Given the description of an element on the screen output the (x, y) to click on. 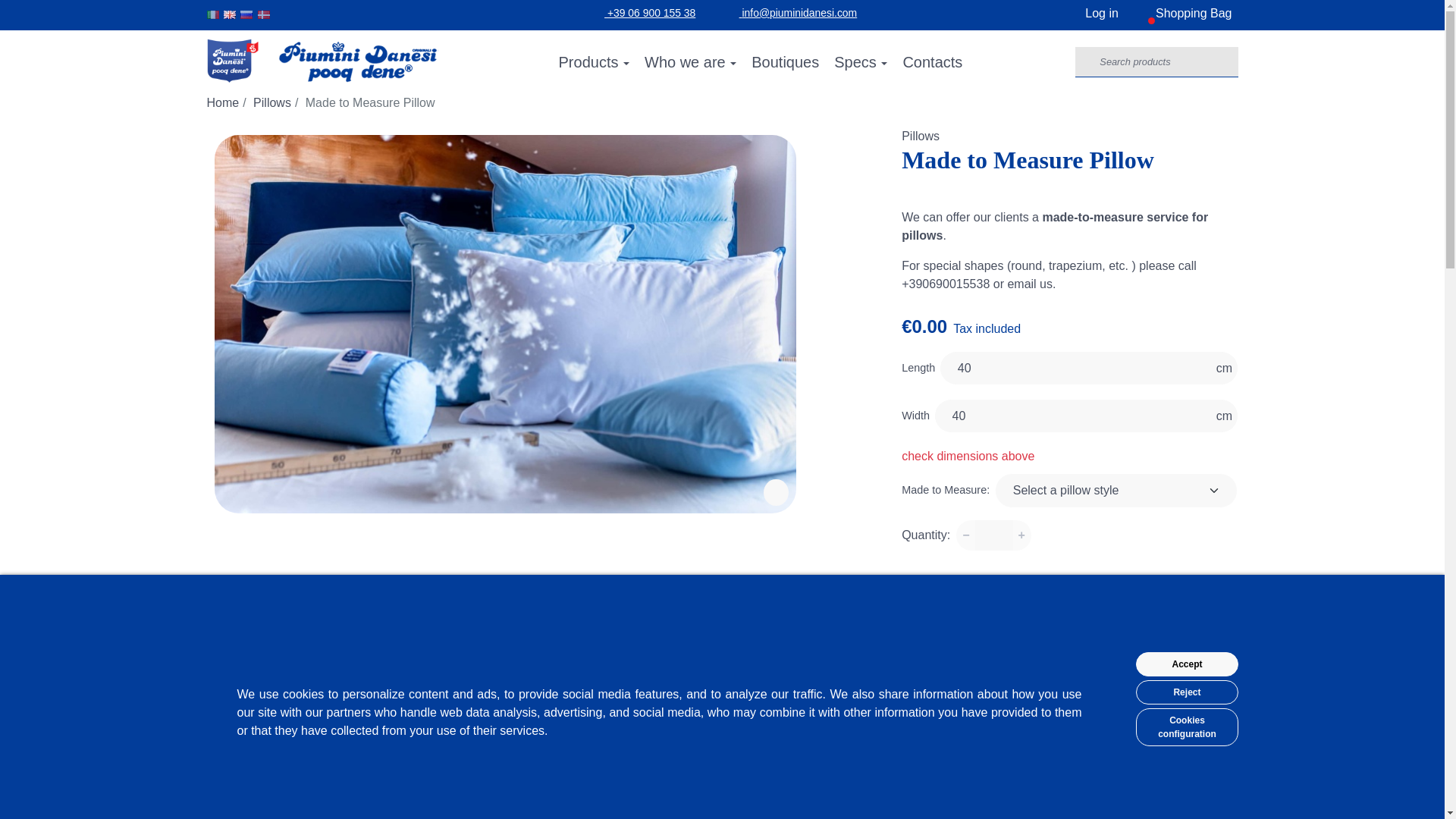
Log in (1090, 15)
Reject (1186, 692)
40 (1072, 415)
Italiano (212, 14)
Pillows (920, 135)
Cookies configuration (1186, 727)
40 (1075, 368)
Dansk (263, 14)
Contact us (1183, 15)
Log in to your customer account (799, 12)
English (1090, 15)
Accept (229, 14)
Products (1186, 663)
